Given the description of an element on the screen output the (x, y) to click on. 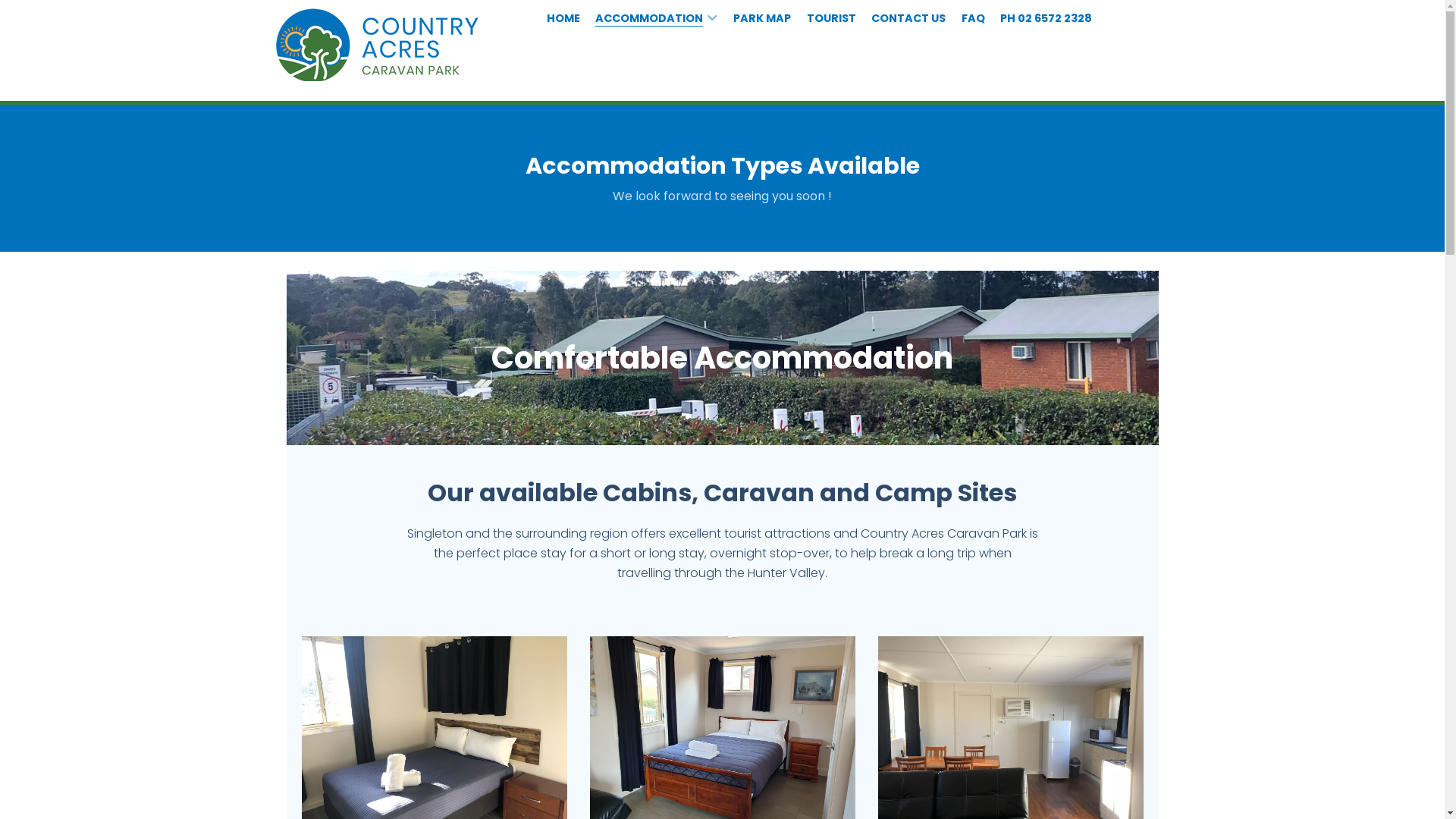
HOME Element type: text (562, 18)
PH 02 6572 2328 Element type: text (1046, 18)
CONTACT US Element type: text (908, 18)
ACCOMMODATION Element type: text (656, 18)
FAQ Element type: text (972, 18)
TOURIST Element type: text (830, 18)
PARK MAP Element type: text (761, 18)
